Given the description of an element on the screen output the (x, y) to click on. 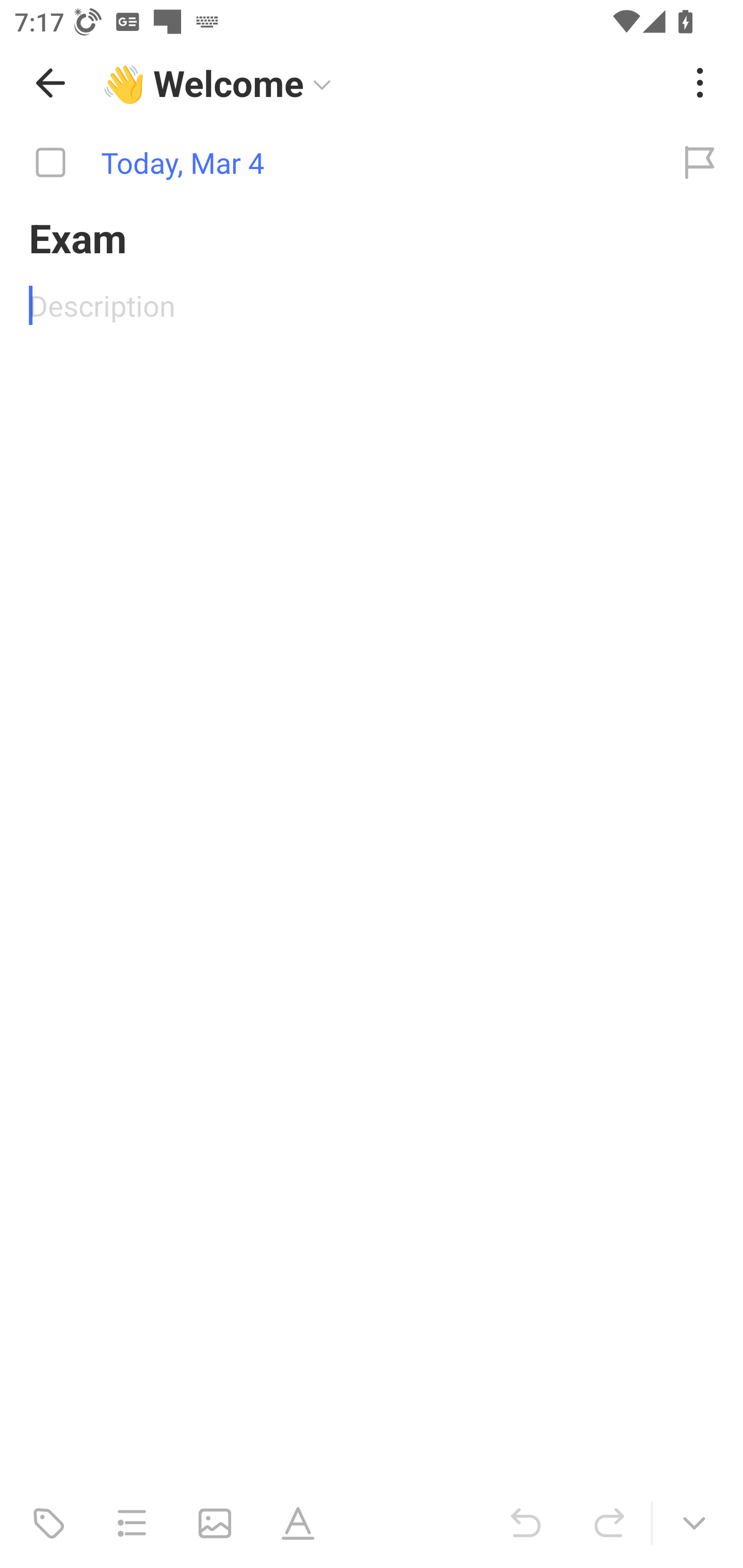
👋 Welcome (384, 82)
Today, Mar 4  (328, 163)
Exam (371, 237)
Description (371, 304)
